Given the description of an element on the screen output the (x, y) to click on. 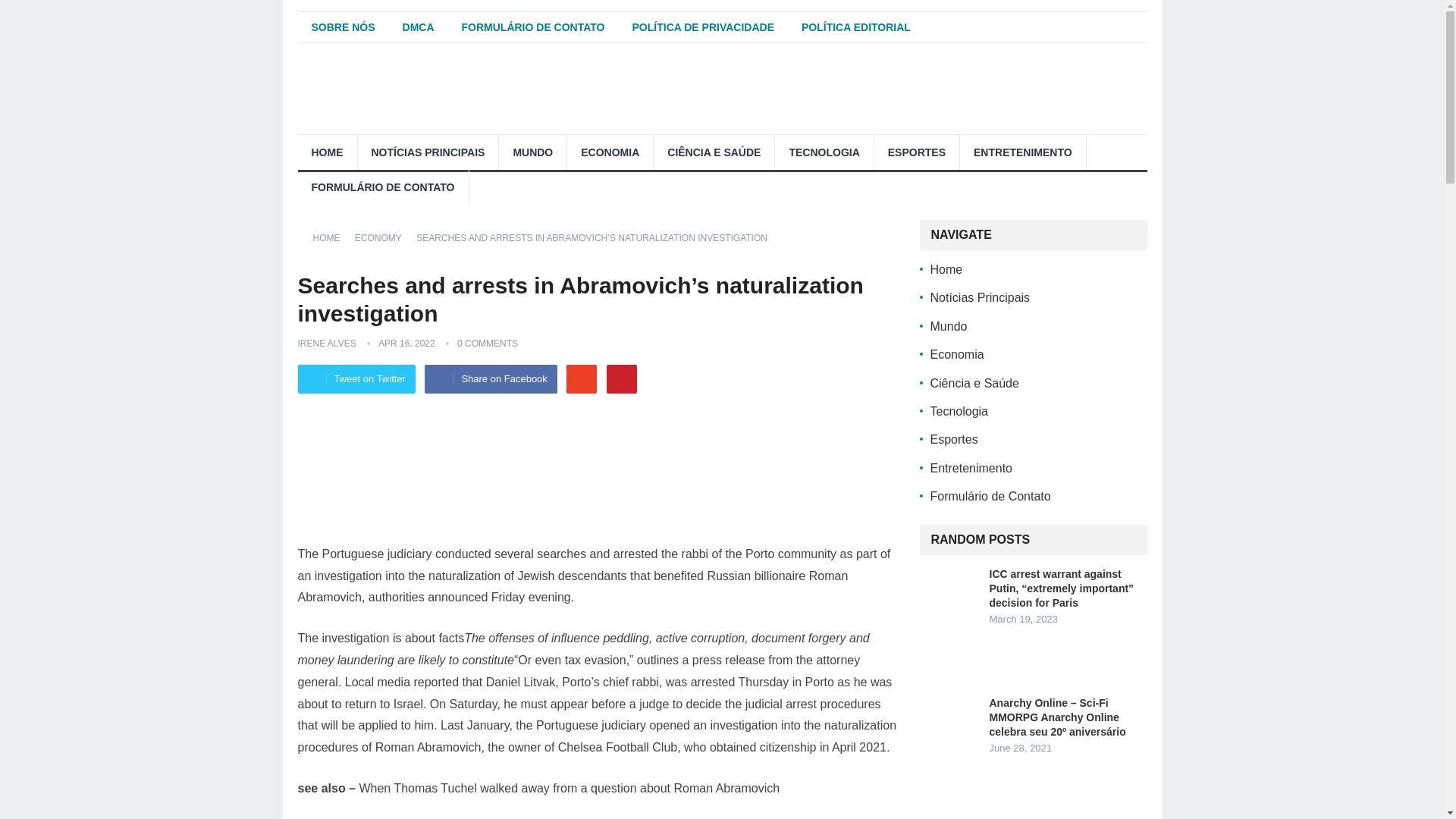
IRENE ALVES (326, 343)
Share on Facebook (490, 378)
Tweet on Twitter (355, 378)
TECNOLOGIA (823, 152)
ECONOMIA (609, 152)
ENTRETENIMENTO (1022, 152)
Pinterest (622, 378)
View all posts in Economy (383, 237)
Posts by Irene Alves (326, 343)
HOME (326, 152)
